Given the description of an element on the screen output the (x, y) to click on. 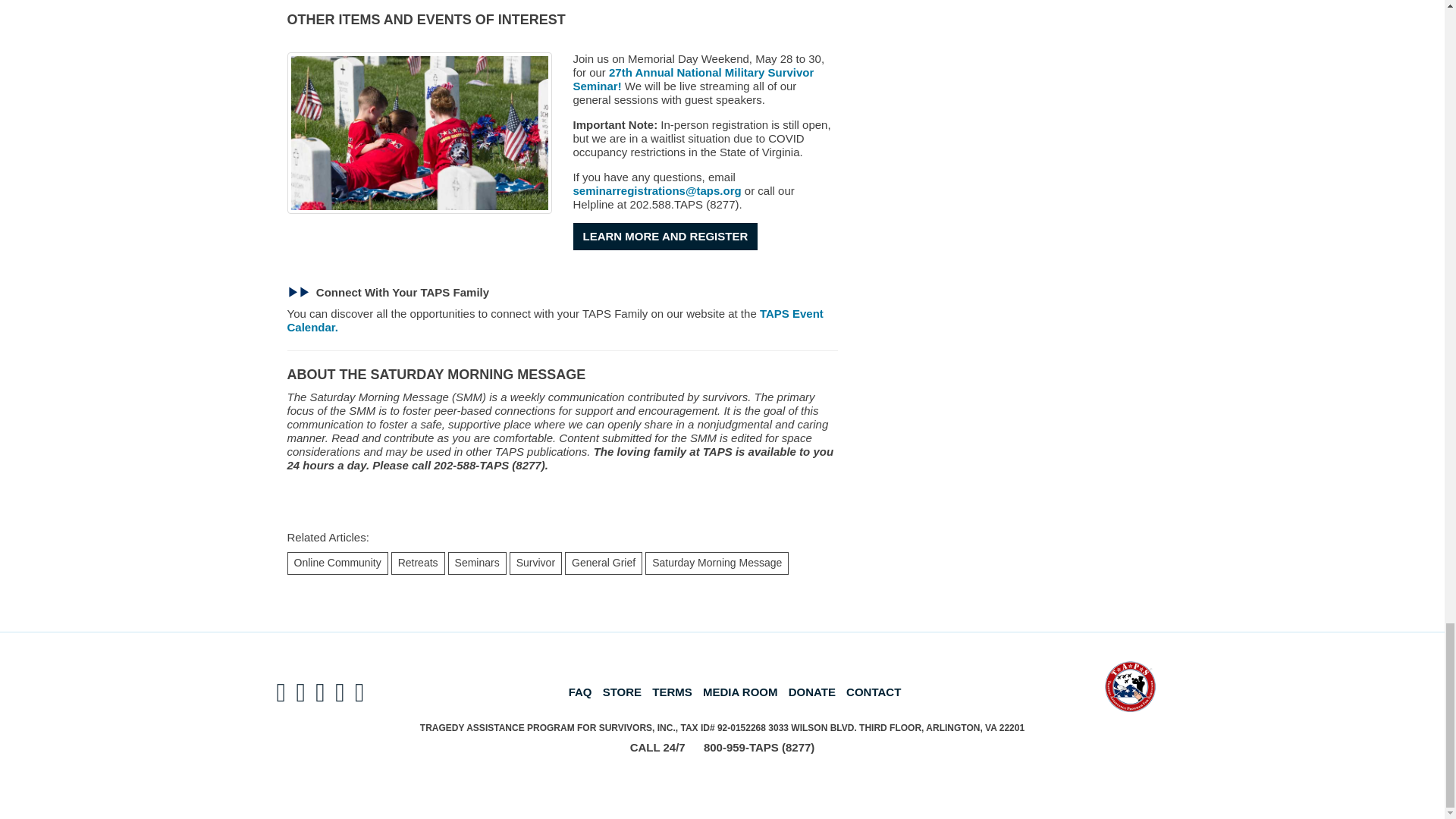
Saturday Morning Message (362, 410)
Arlington Cemetery family at headstone (418, 132)
